Given the description of an element on the screen output the (x, y) to click on. 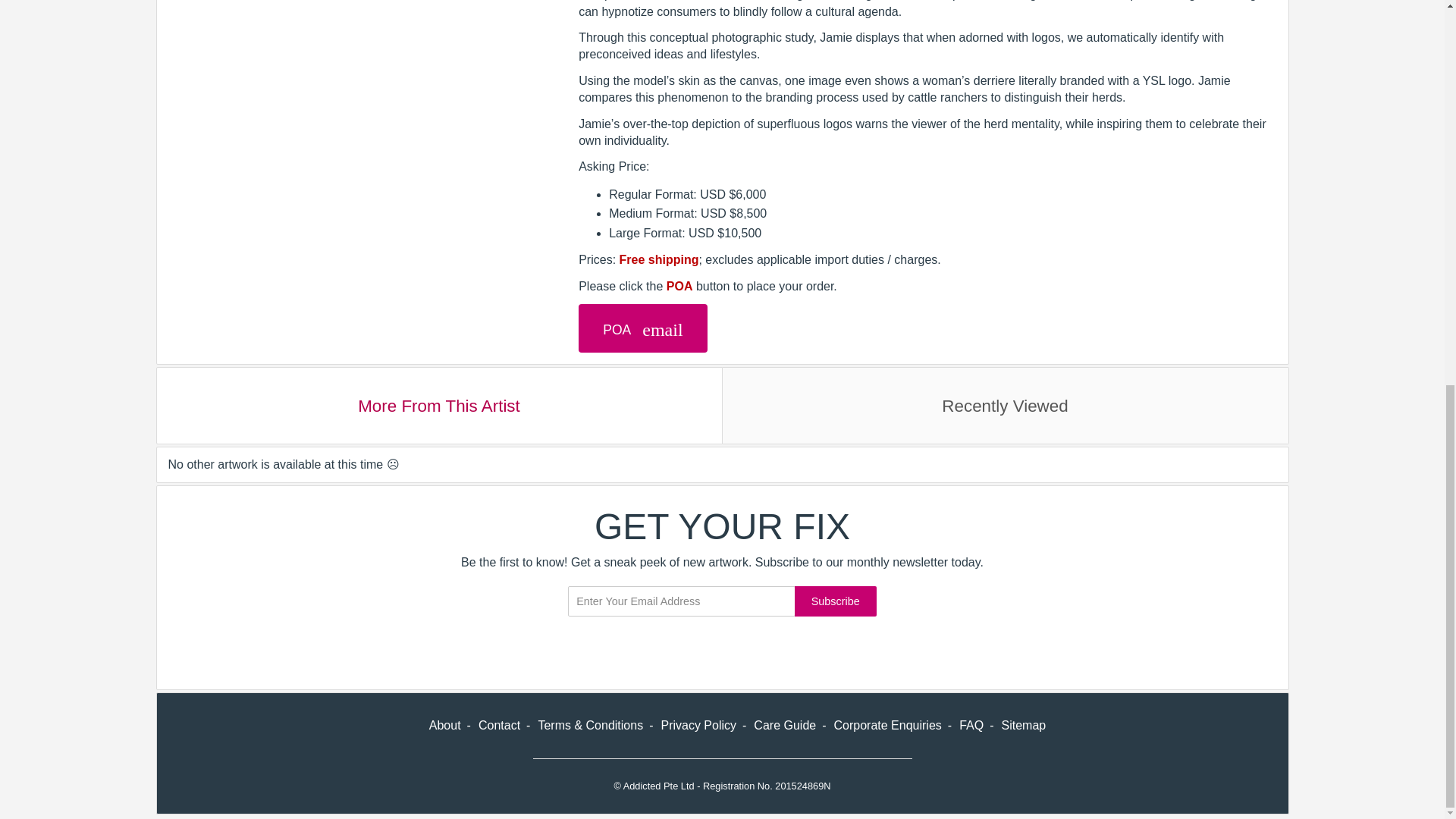
Subscribe (1347, 301)
POA email (642, 327)
Subscribe (835, 601)
Recently Viewed (1005, 404)
Subscribe (835, 601)
More From This Artist (438, 404)
Subscribe (1347, 301)
